Given the description of an element on the screen output the (x, y) to click on. 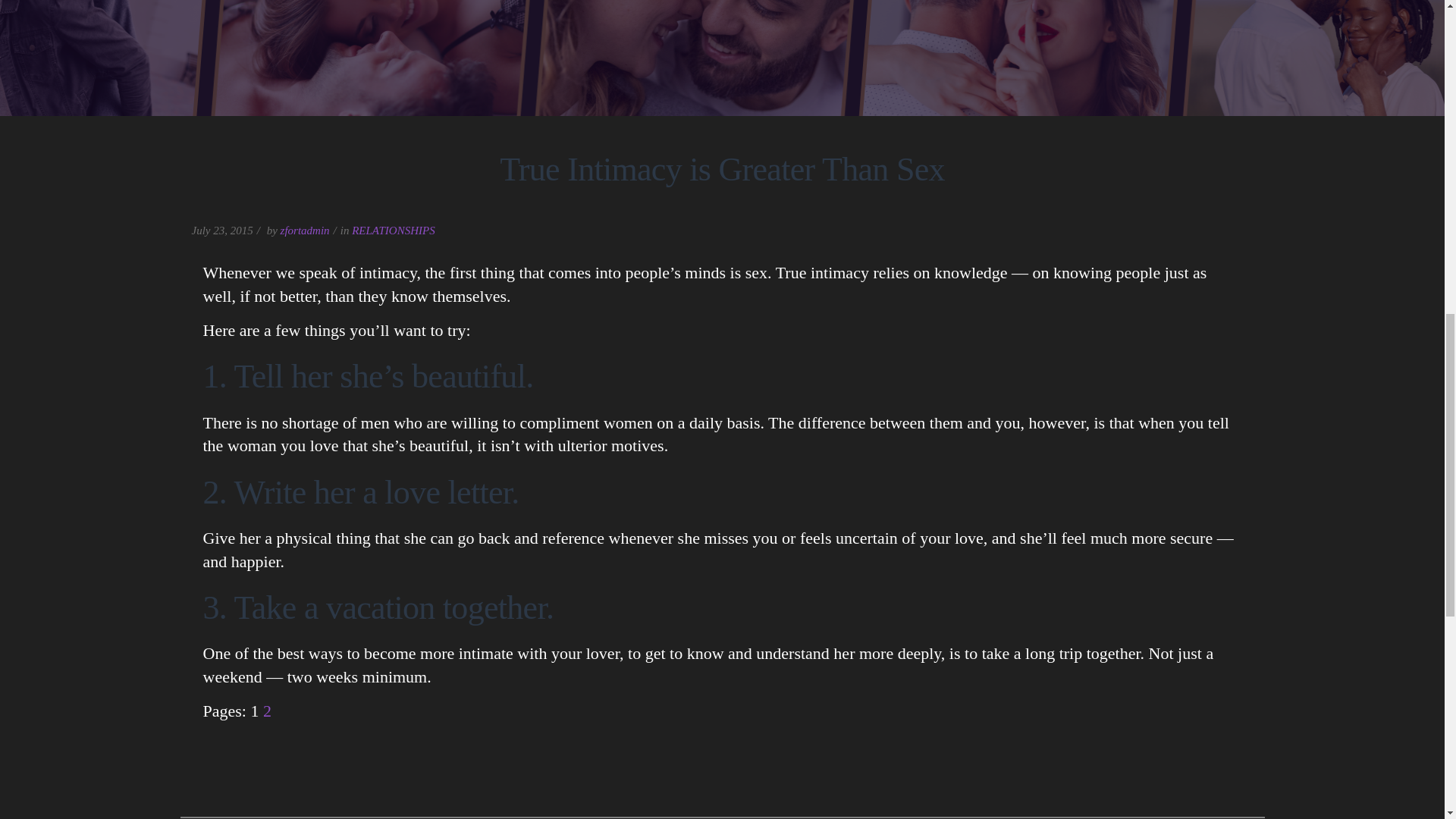
RELATIONSHIPS (392, 230)
zfortadmin (305, 230)
